Given the description of an element on the screen output the (x, y) to click on. 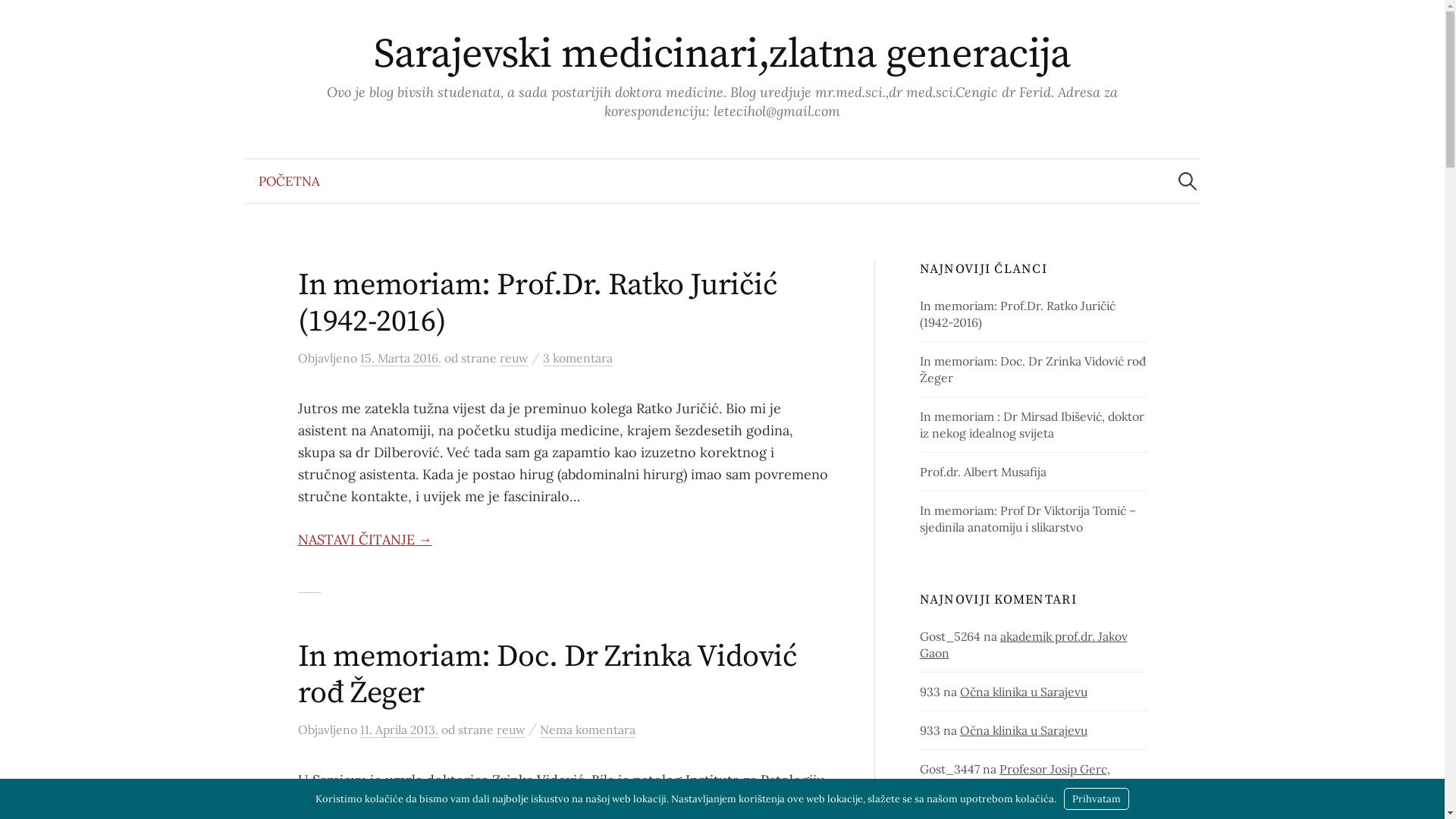
Prihvatam Element type: text (1096, 798)
Pretraga Element type: text (18, 18)
11. Aprila 2013. Element type: text (398, 729)
Profesor Josip Gerc, izmislio uho, grlo i nos Element type: text (1014, 777)
reuw Element type: text (512, 358)
15. Marta 2016. Element type: text (399, 358)
reuw Element type: text (509, 729)
akademik prof.dr. Jakov Gaon Element type: text (1023, 644)
Sarajevski medicinari,zlatna generacija Element type: text (721, 54)
Prof.dr. Albert Musafija Element type: text (982, 471)
